Given the description of an element on the screen output the (x, y) to click on. 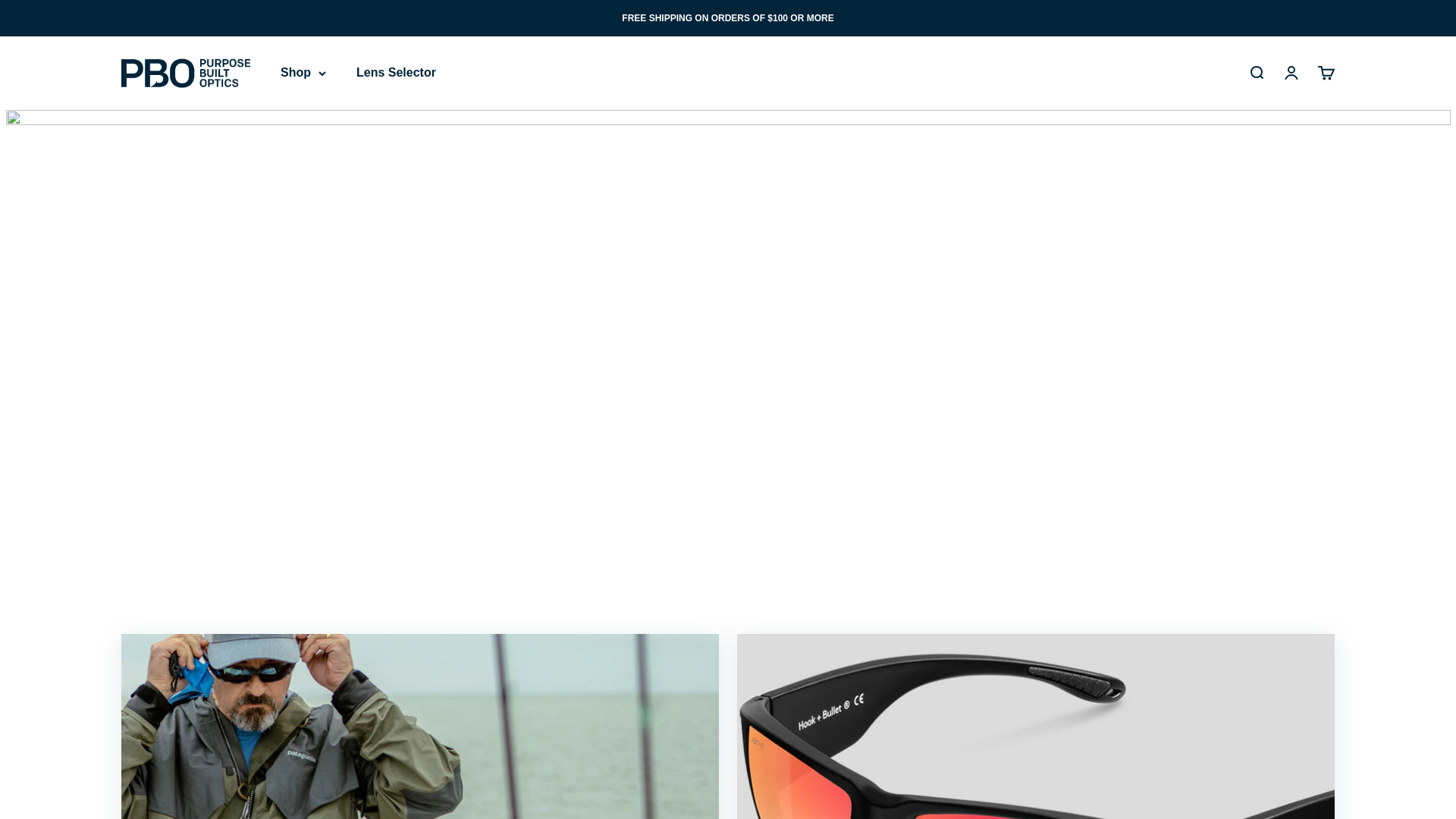
Open account page (1291, 73)
Purpose Built Optics (185, 72)
Open search (1326, 73)
Lens Selector (1256, 73)
